Given the description of an element on the screen output the (x, y) to click on. 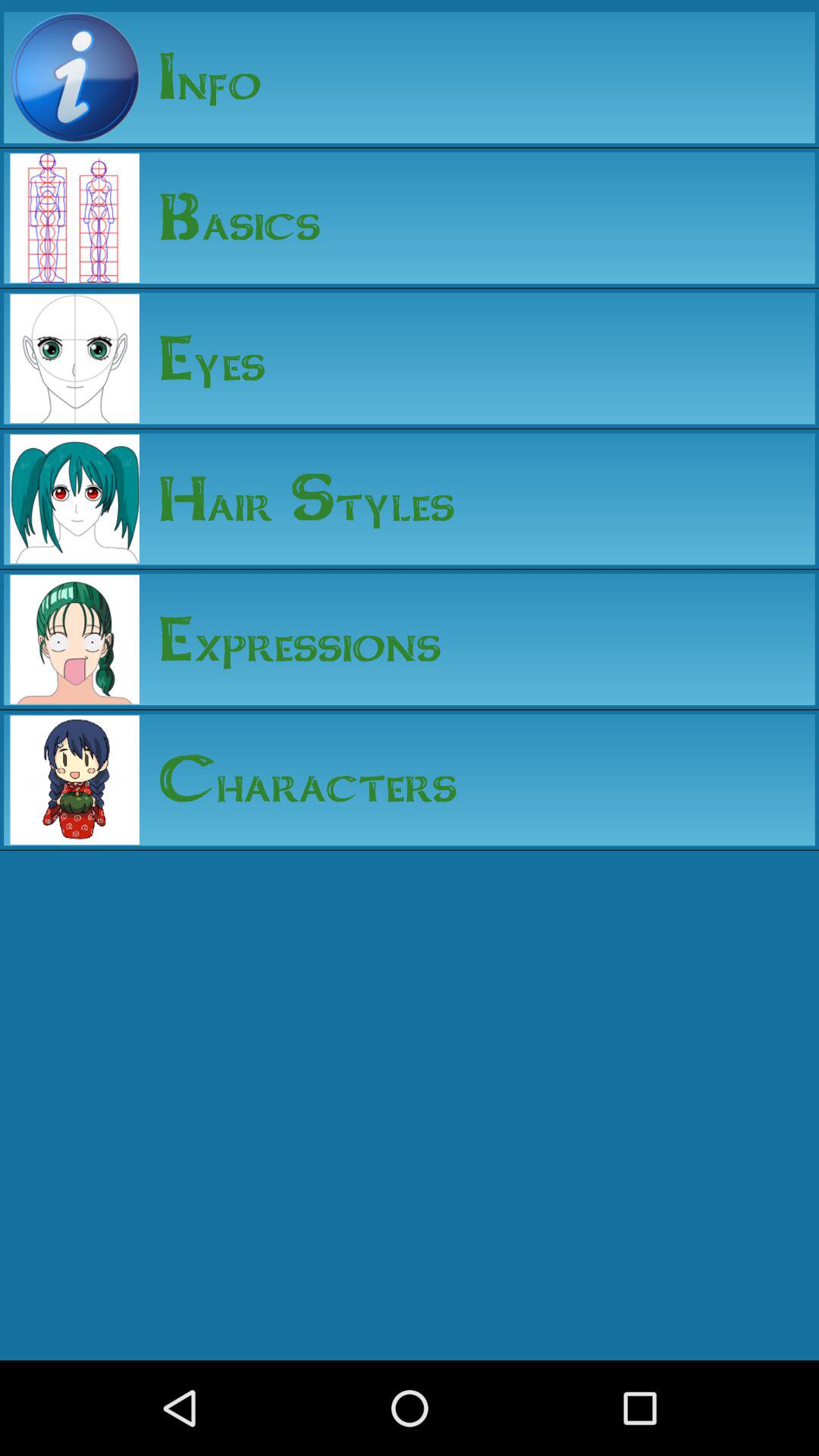
turn on basics (229, 217)
